Given the description of an element on the screen output the (x, y) to click on. 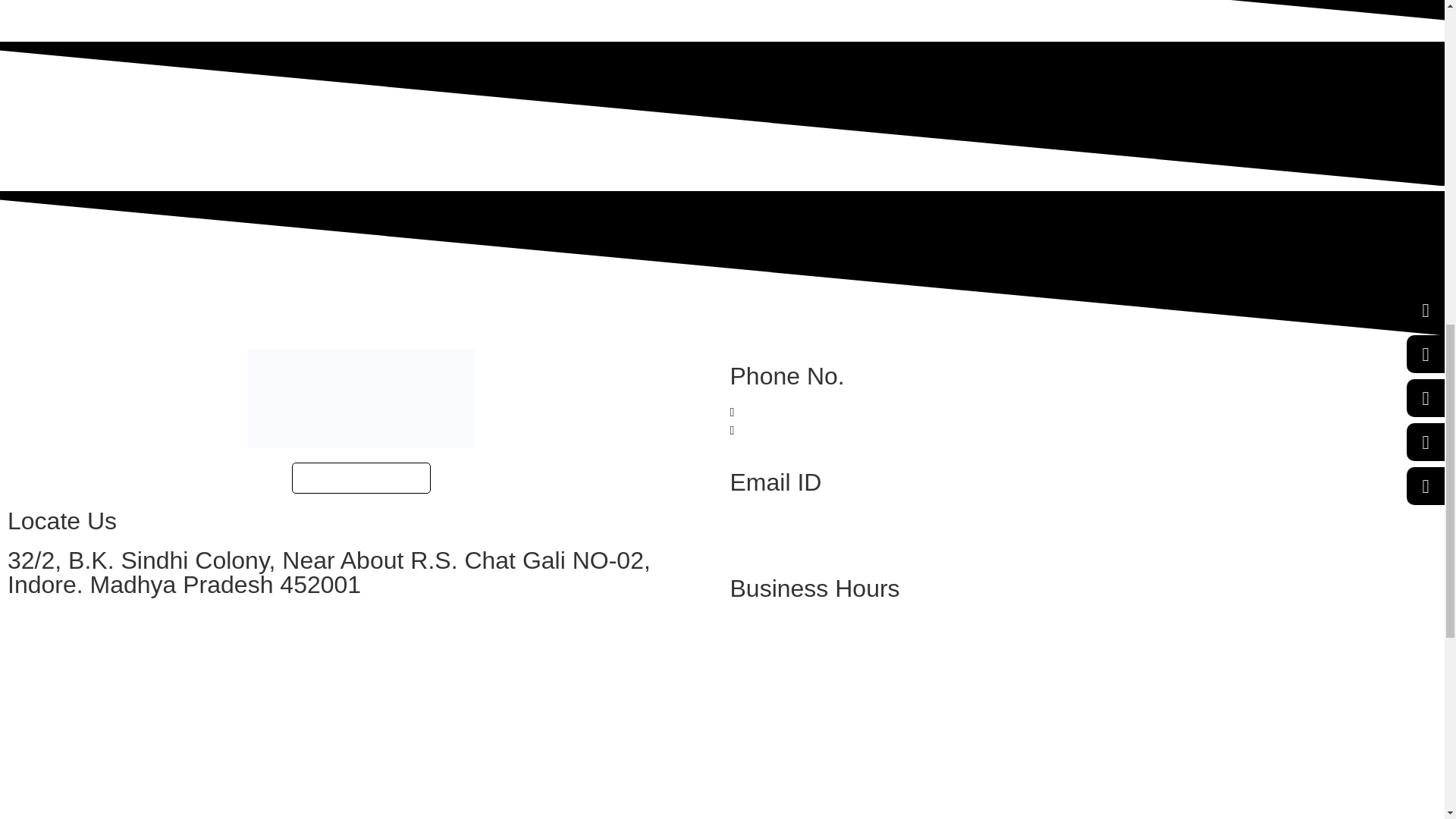
Book an apointment (361, 477)
